Given the description of an element on the screen output the (x, y) to click on. 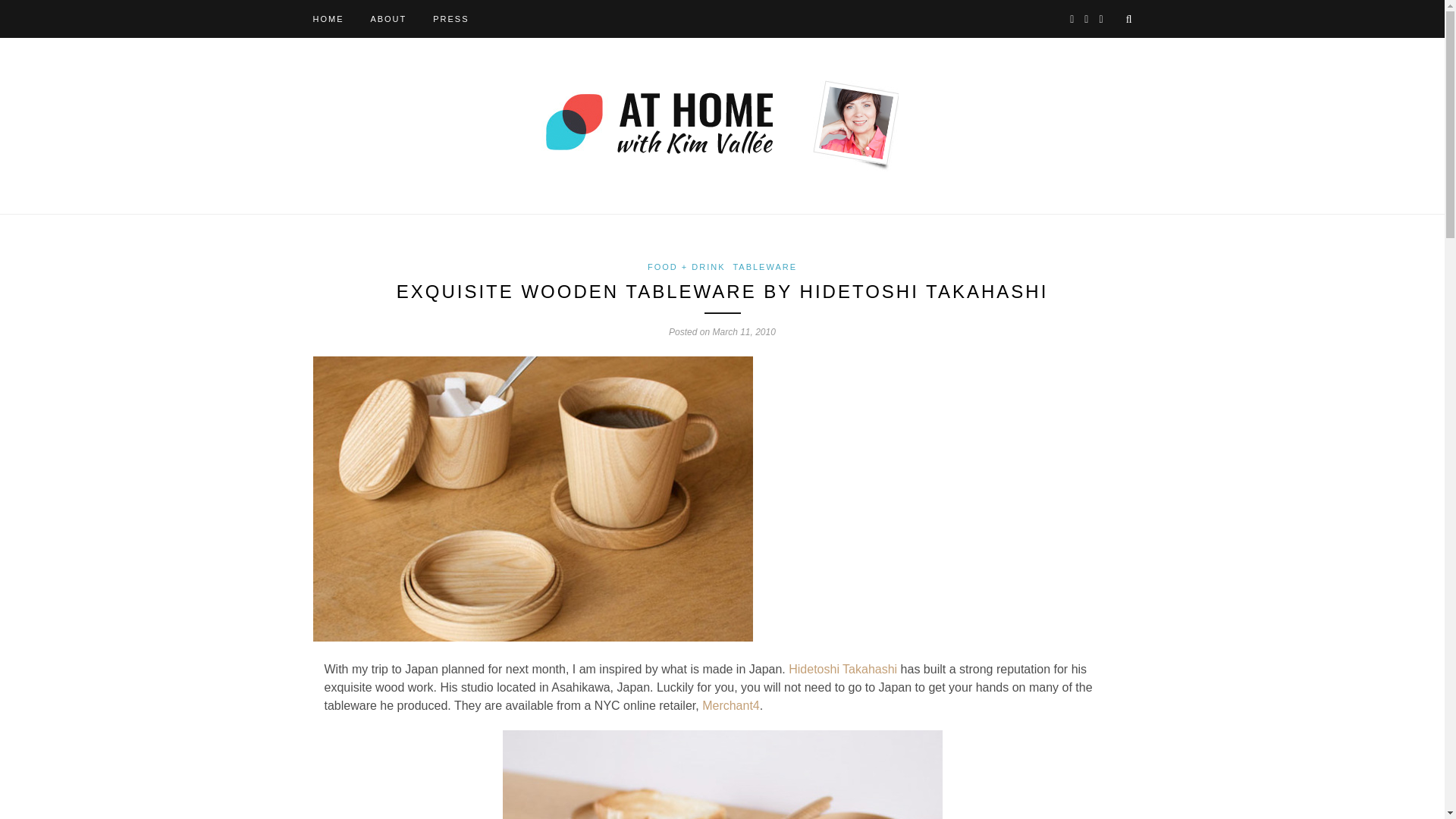
TABLEWARE (764, 266)
Merchant4 (730, 705)
Hidetoshi Takahashi (842, 668)
ABOUT (387, 18)
PRESS (450, 18)
About this family lifestyle blog (387, 18)
